Given the description of an element on the screen output the (x, y) to click on. 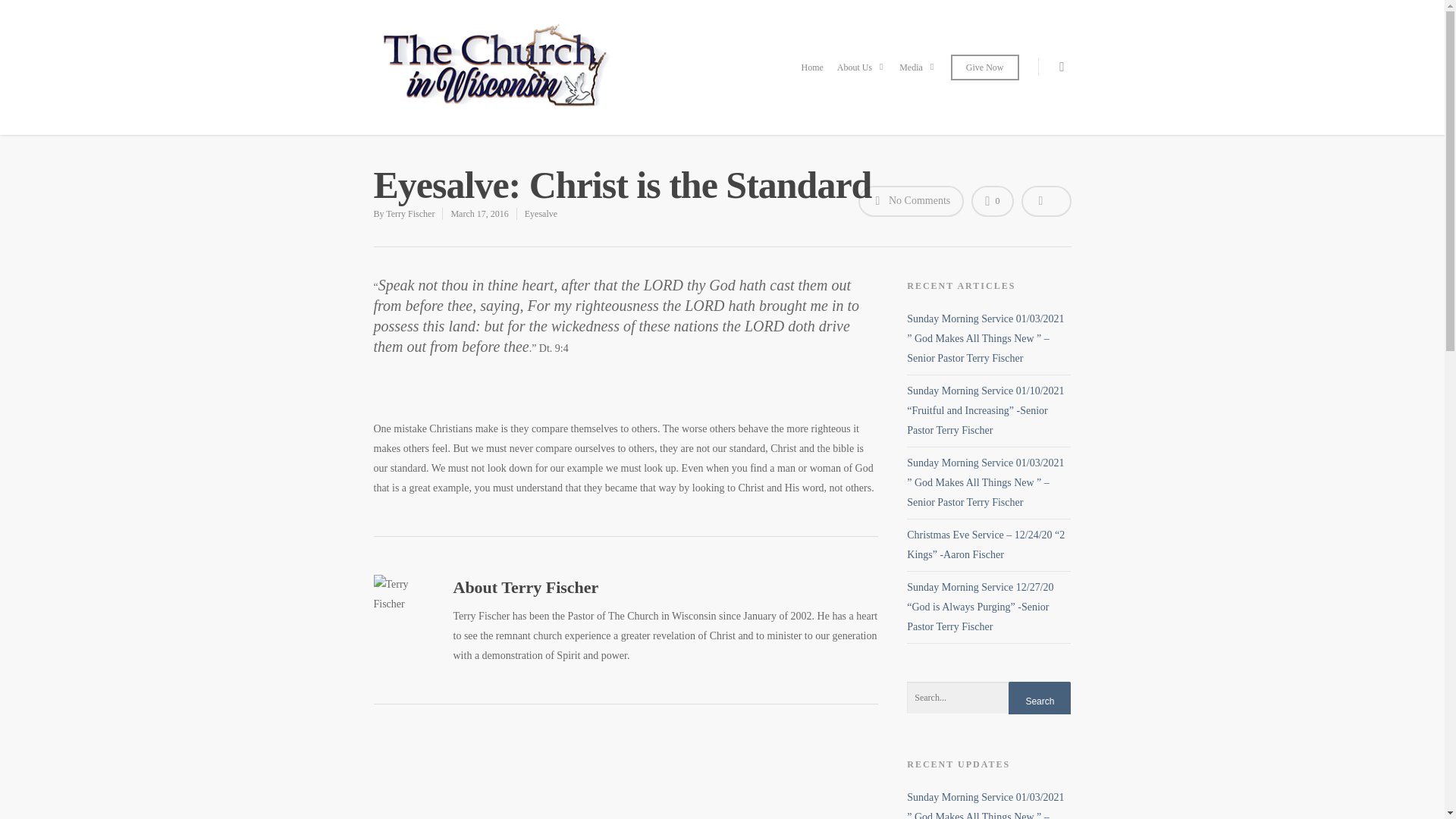
Search for: (988, 697)
Posts by Terry Fischer (409, 213)
Love this (992, 201)
Eyesalve (540, 213)
0 (992, 201)
Search (1039, 701)
Terry Fischer (409, 213)
No Comments (911, 201)
Search (1039, 701)
Search (1039, 701)
